Given the description of an element on the screen output the (x, y) to click on. 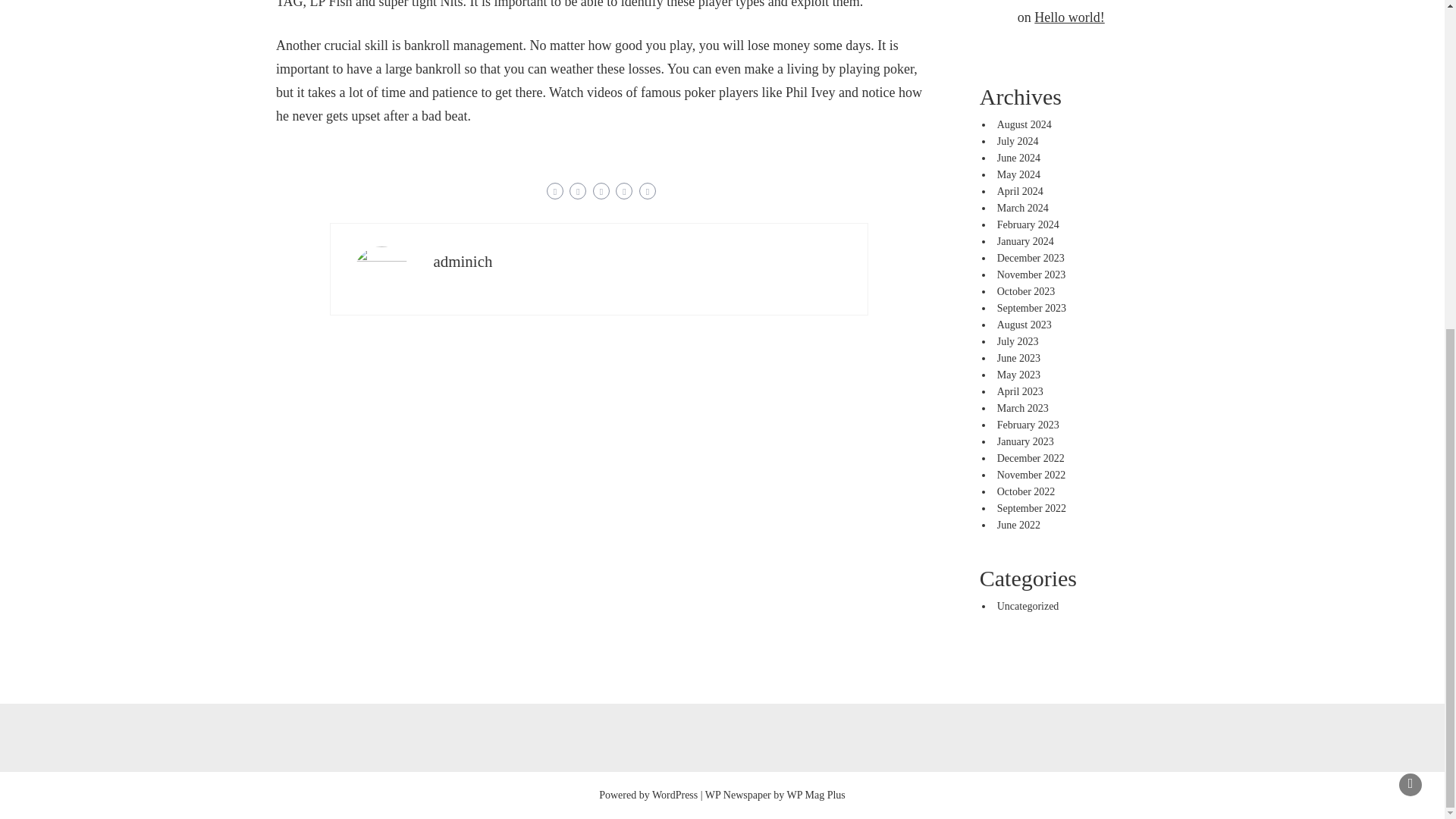
June 2024 (1019, 157)
May 2024 (1019, 174)
September 2023 (1031, 307)
November 2023 (1031, 274)
Hello world! (1068, 17)
August 2023 (1024, 324)
August 2024 (1024, 124)
February 2024 (1028, 224)
A WordPress Commenter (1086, 0)
July 2024 (1018, 141)
January 2024 (1025, 241)
March 2024 (1022, 207)
April 2024 (1020, 191)
adminich (462, 261)
October 2023 (1026, 291)
